Given the description of an element on the screen output the (x, y) to click on. 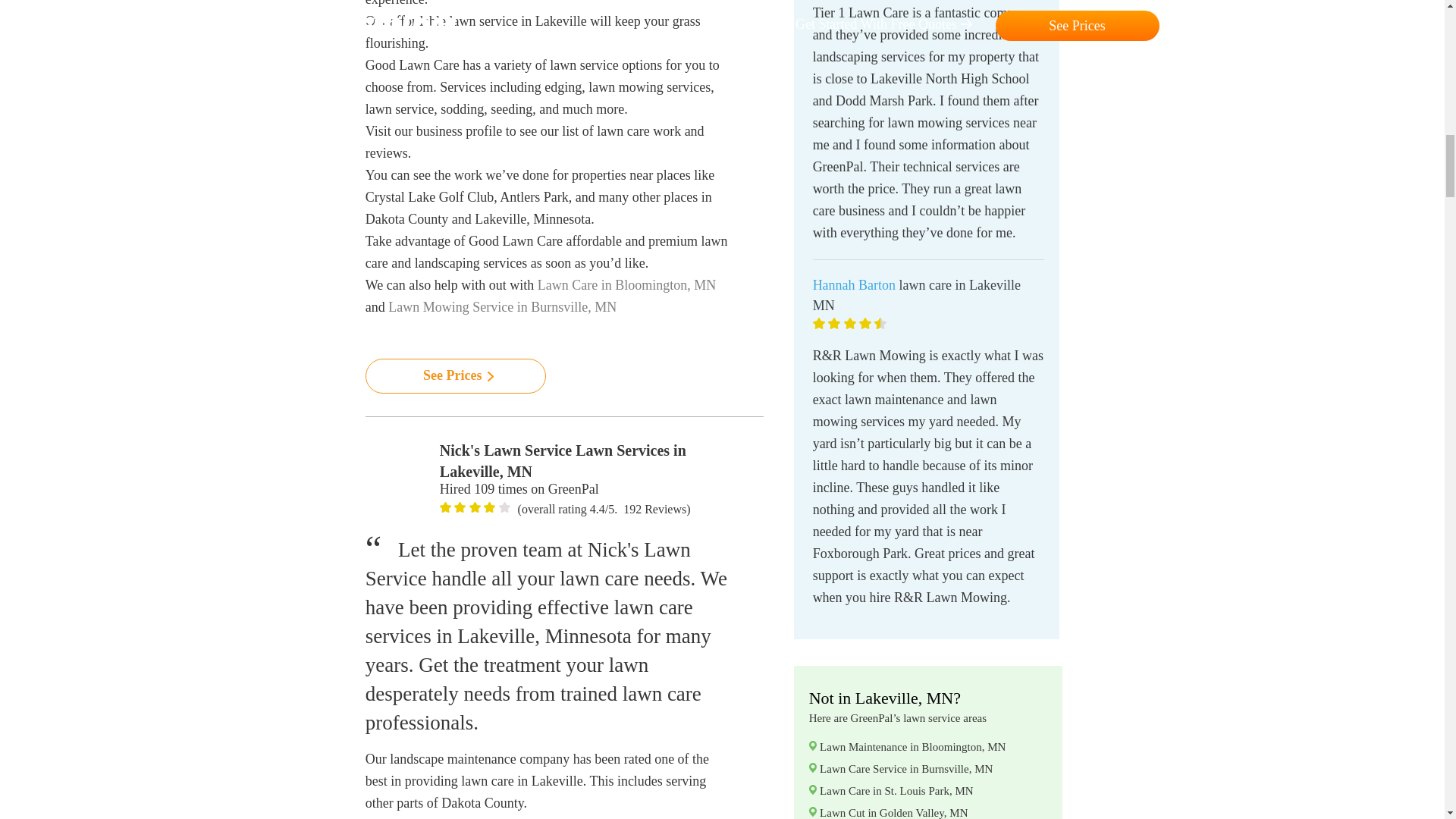
local-lawn-maintenance-contractors-in-Lakeville-MN (398, 472)
See Prices (455, 375)
the-yard-cutting-businesses-in-Lakeville-MN (474, 507)
Lawn Care in Bloomington, MN (626, 284)
residential-lawn-cutting-businesses-in-Lakeville-MN (489, 507)
Lawn Mowing Service in Burnsville, MN (501, 306)
Lawn Care in St. Louis Park, MN (895, 790)
Lawn Care Service in Burnsville, MN (905, 768)
Lawn Maintenance in Bloomington, MN (912, 746)
Lawn Cut in Golden Valley, MN (893, 812)
local-lawn-cutting-services-in-Lakeville-MN (505, 507)
lawn-maintenance-in-Lakeville-MN (459, 507)
